Given the description of an element on the screen output the (x, y) to click on. 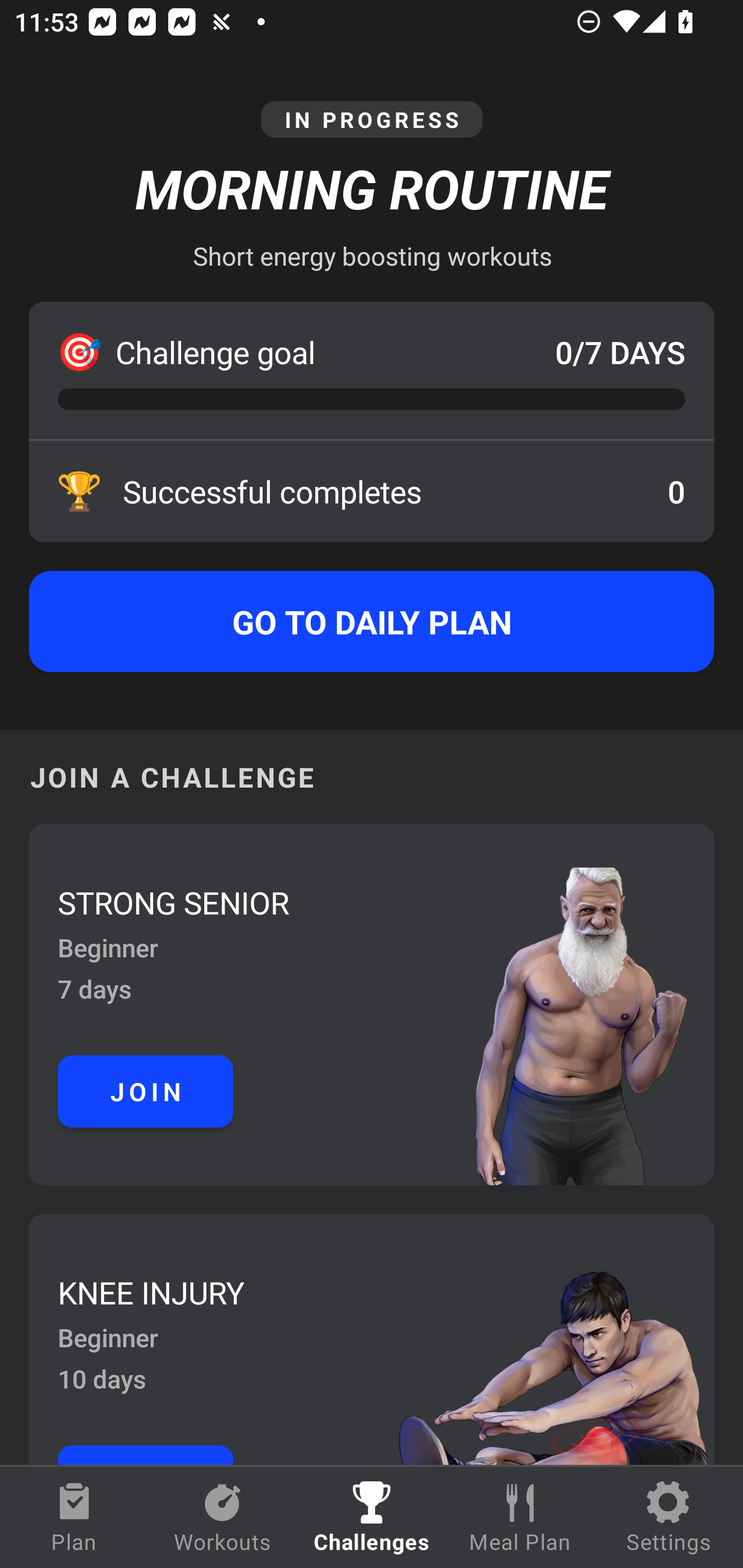
GO TO DAILY PLAN (371, 621)
JOIN (145, 1091)
 Plan  (74, 1517)
 Workouts  (222, 1517)
 Meal Plan  (519, 1517)
 Settings  (668, 1517)
